Given the description of an element on the screen output the (x, y) to click on. 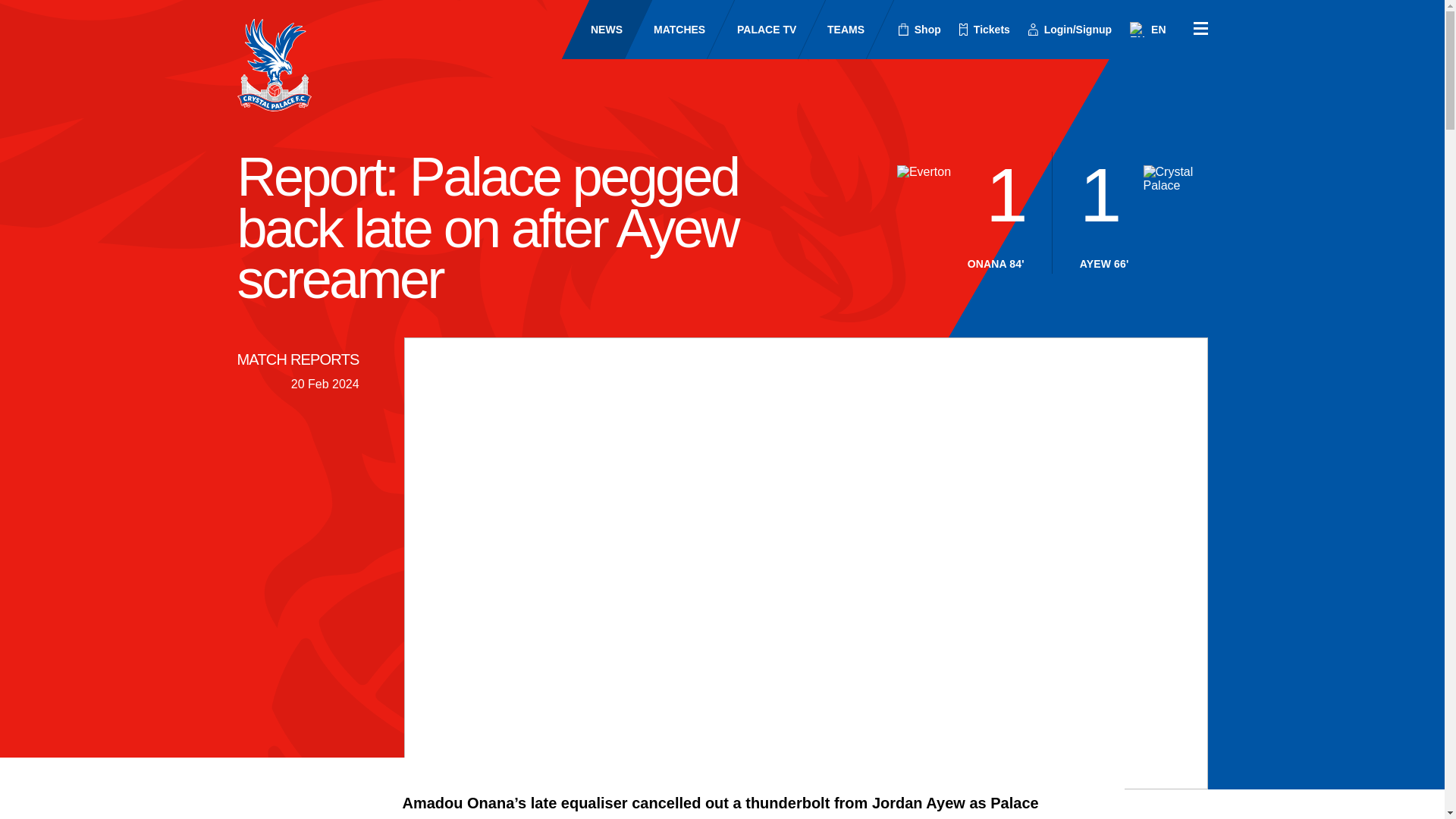
Shop (919, 29)
NEWS (593, 29)
MATCHES (665, 29)
PALACE TV (752, 29)
EN (1147, 29)
Tickets (984, 29)
TEAMS (831, 29)
